Given the description of an element on the screen output the (x, y) to click on. 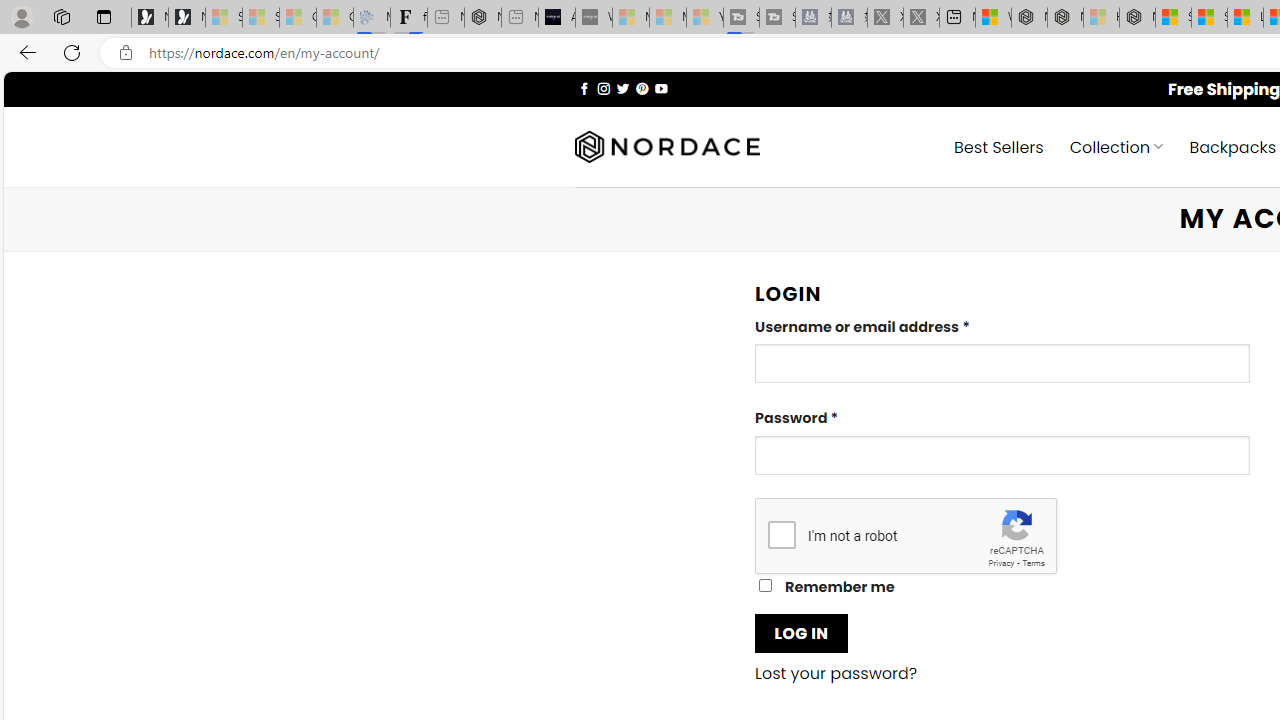
Follow on Instagram (603, 88)
Streaming Coverage | T3 - Sleeping (741, 17)
 Best Sellers (998, 146)
Microsoft Start - Sleeping (668, 17)
